Given the description of an element on the screen output the (x, y) to click on. 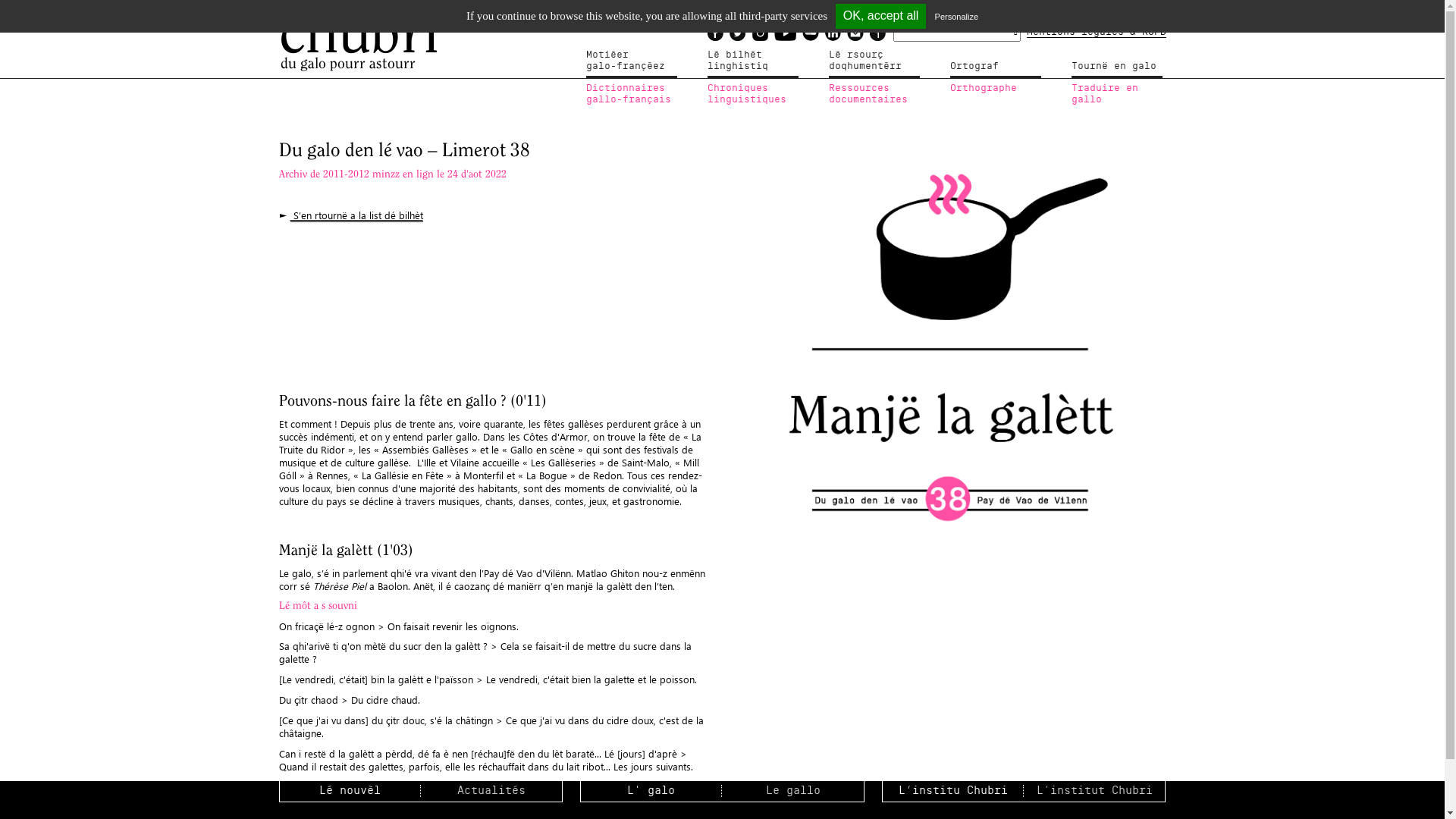
Ortograf Element type: text (994, 63)
facebook Element type: hover (714, 31)
soundcloud Element type: hover (810, 31)
chubri Element type: text (358, 27)
contact Element type: hover (876, 31)
L' galoLe gallo Element type: text (721, 791)
twitter Element type: hover (737, 31)
linkedin Element type: hover (832, 31)
OK, accept all Element type: text (880, 15)
Traduire en gallo Element type: text (1115, 94)
newsletter Element type: hover (854, 31)
Orthographe Element type: text (994, 88)
instagram Element type: hover (760, 31)
Chroniques
linguistiques Element type: text (751, 94)
Personalize Element type: text (956, 16)
youtube Element type: hover (784, 31)
Ressources documentaires Element type: text (873, 94)
